Given the description of an element on the screen output the (x, y) to click on. 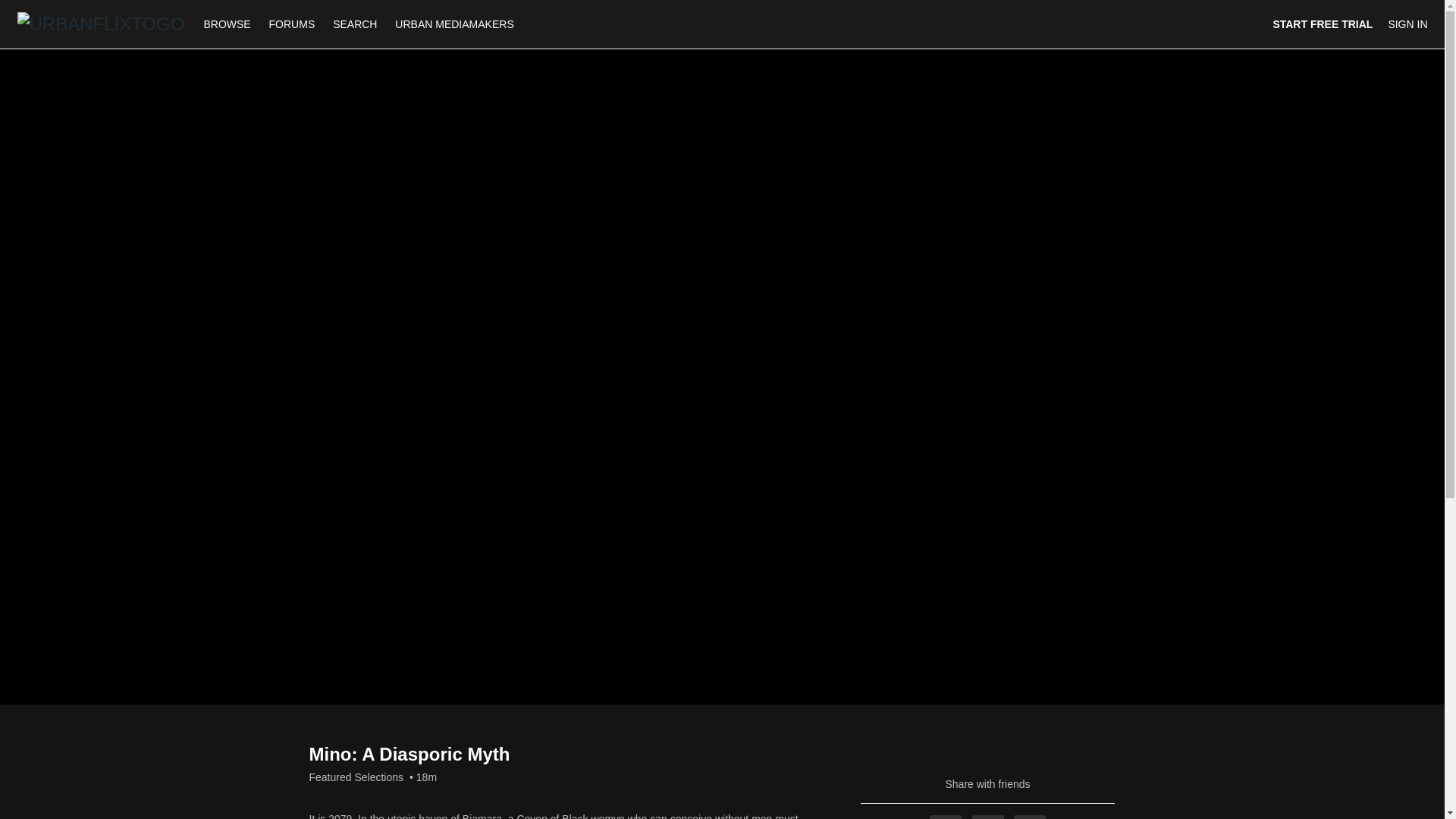
Featured Selections (356, 776)
FORUMS (294, 24)
Skip to main content (48, 7)
SEARCH (355, 24)
BROWSE (227, 24)
Twitter (988, 816)
SIGN IN (1406, 24)
URBAN MEDIAMAKERS (454, 24)
Facebook (945, 816)
Email (1029, 816)
START FREE TRIAL (1322, 24)
